Given the description of an element on the screen output the (x, y) to click on. 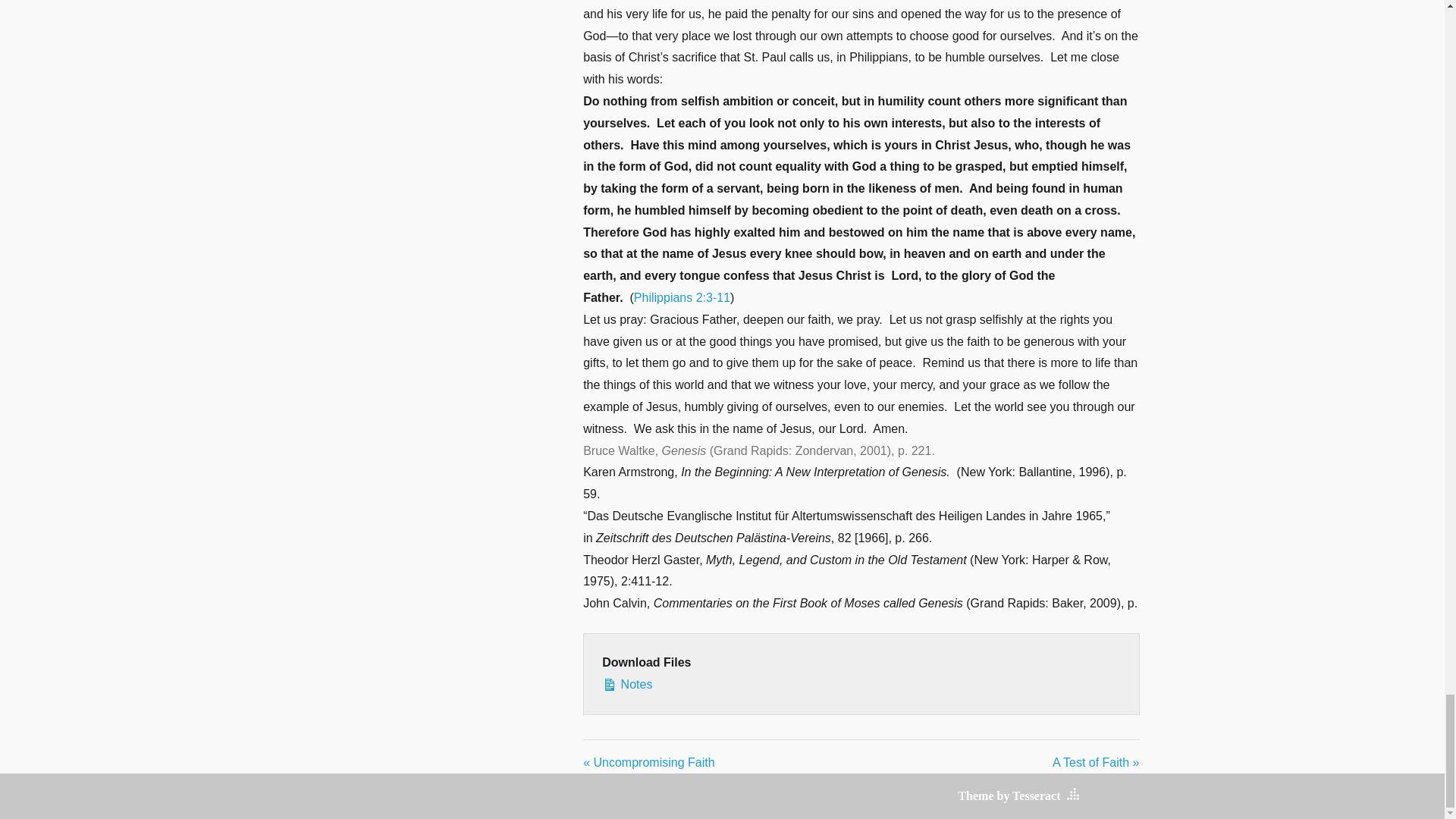
Philippians 2:3-11 (681, 297)
